Given the description of an element on the screen output the (x, y) to click on. 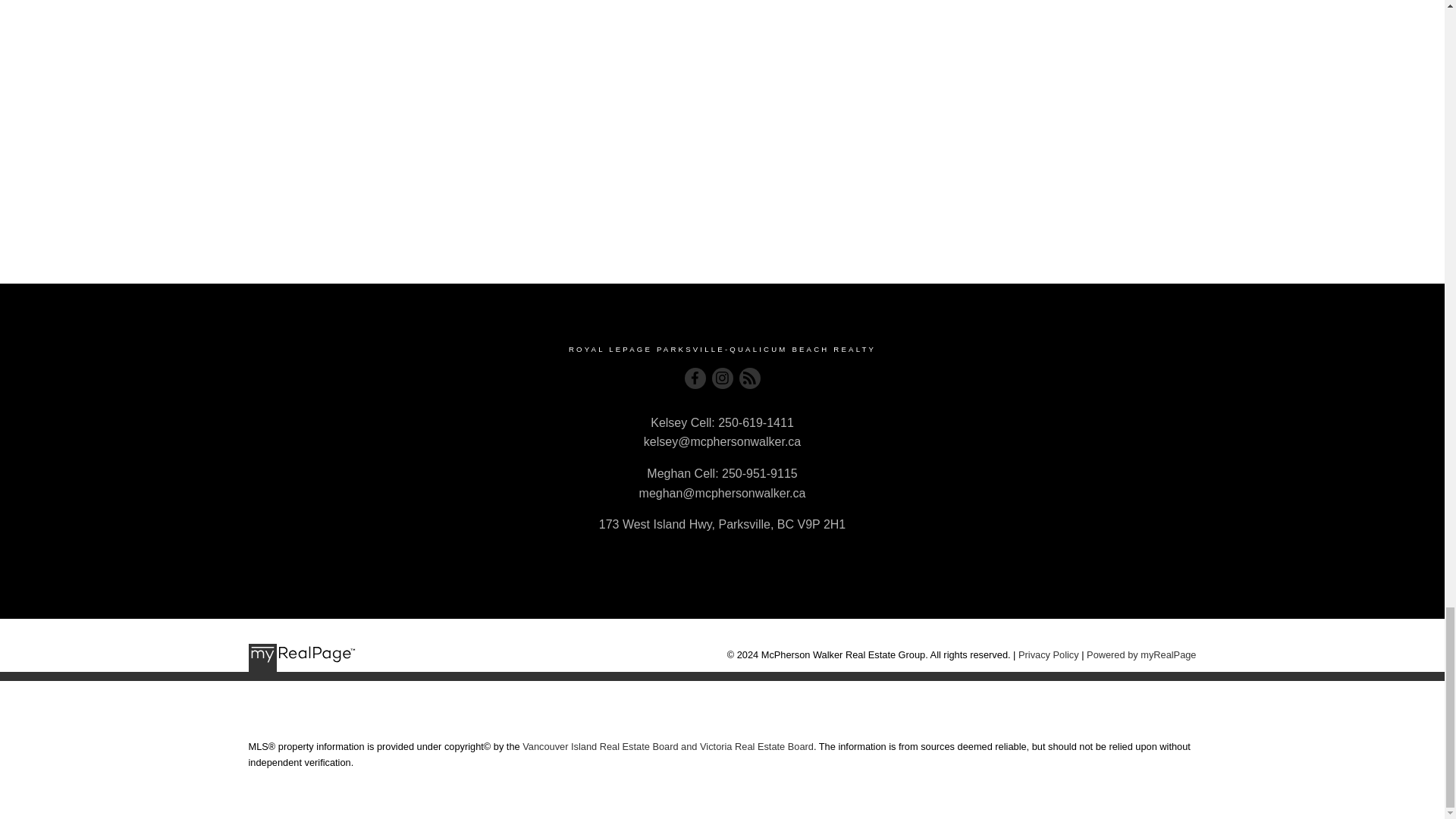
Blog (749, 378)
Instagram (721, 378)
Facebook (694, 378)
